Given the description of an element on the screen output the (x, y) to click on. 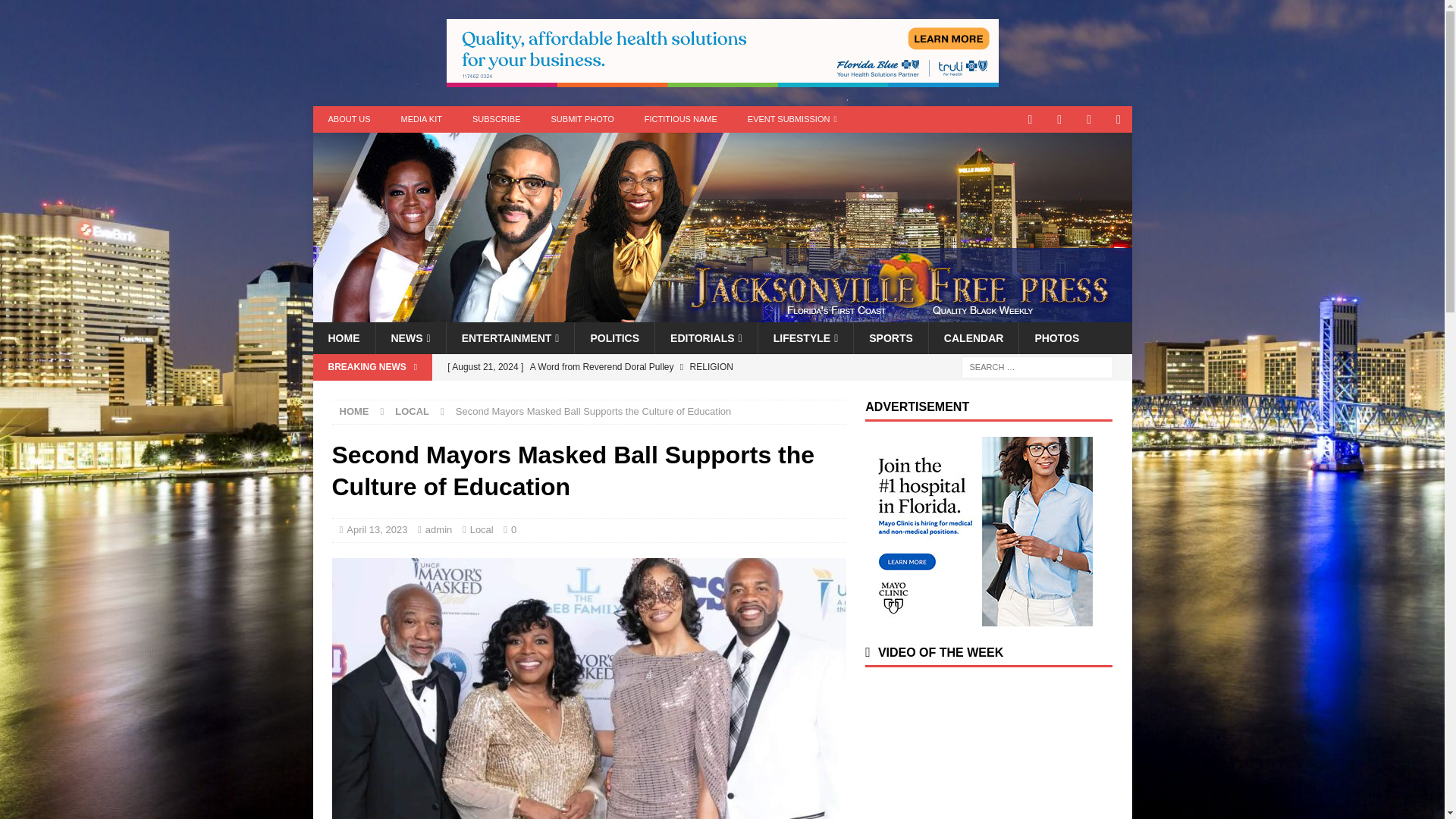
SUBSCRIBE (496, 119)
twitter (1059, 119)
A Word from Reverend Doral Pulley (640, 366)
rss (1118, 119)
contact (1029, 119)
MEDIA KIT (421, 119)
FICTITIOUS NAME (680, 119)
Free Press of Jacksonville (722, 313)
ABOUT US (349, 119)
